Given the description of an element on the screen output the (x, y) to click on. 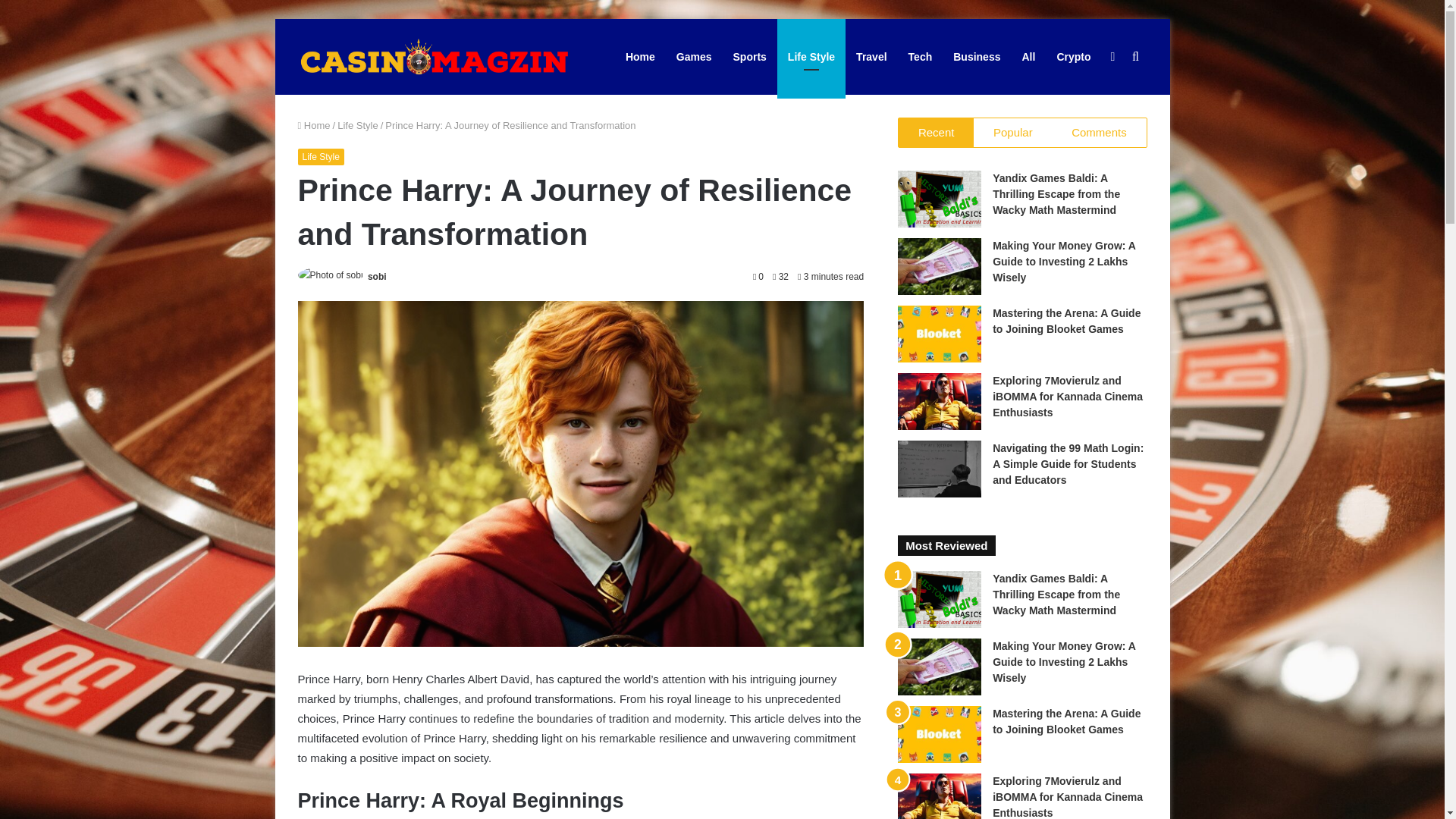
sobi (377, 276)
Life Style (357, 125)
Life Style (811, 56)
sobi (377, 276)
Business (976, 56)
Home (313, 125)
CasinoMagzin (433, 56)
Life Style (320, 156)
